Given the description of an element on the screen output the (x, y) to click on. 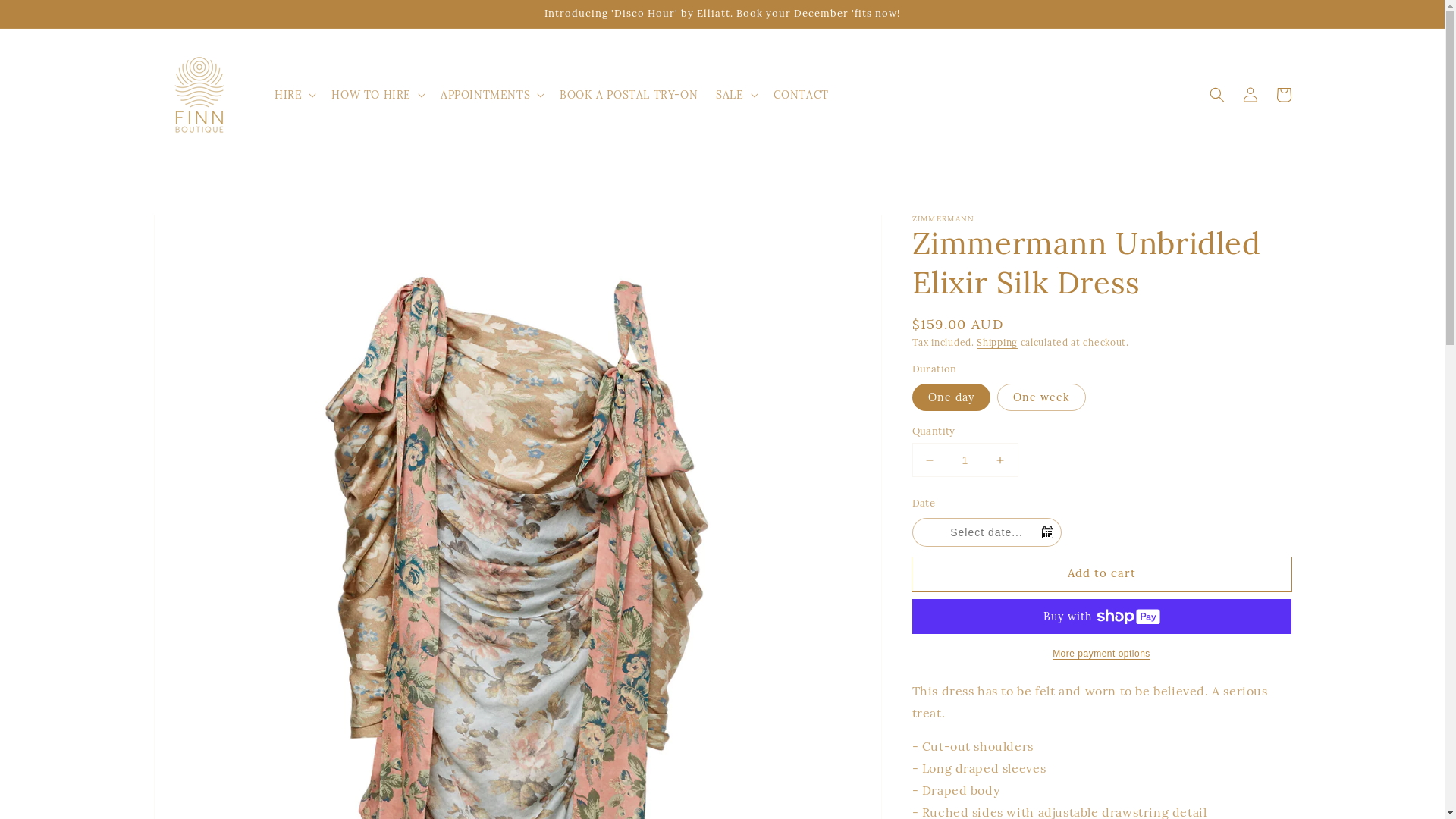
CONTACT Element type: text (800, 94)
Increase quantity for Zimmermann Unbridled Elixir Silk Dress Element type: text (999, 459)
More payment options Element type: text (1100, 653)
Decrease quantity for Zimmermann Unbridled Elixir Silk Dress Element type: text (930, 459)
Log in Element type: text (1249, 94)
BOOK A POSTAL TRY-ON Element type: text (628, 94)
Cart Element type: text (1282, 94)
Skip to product information Element type: text (198, 230)
Shipping Element type: text (996, 342)
